Given the description of an element on the screen output the (x, y) to click on. 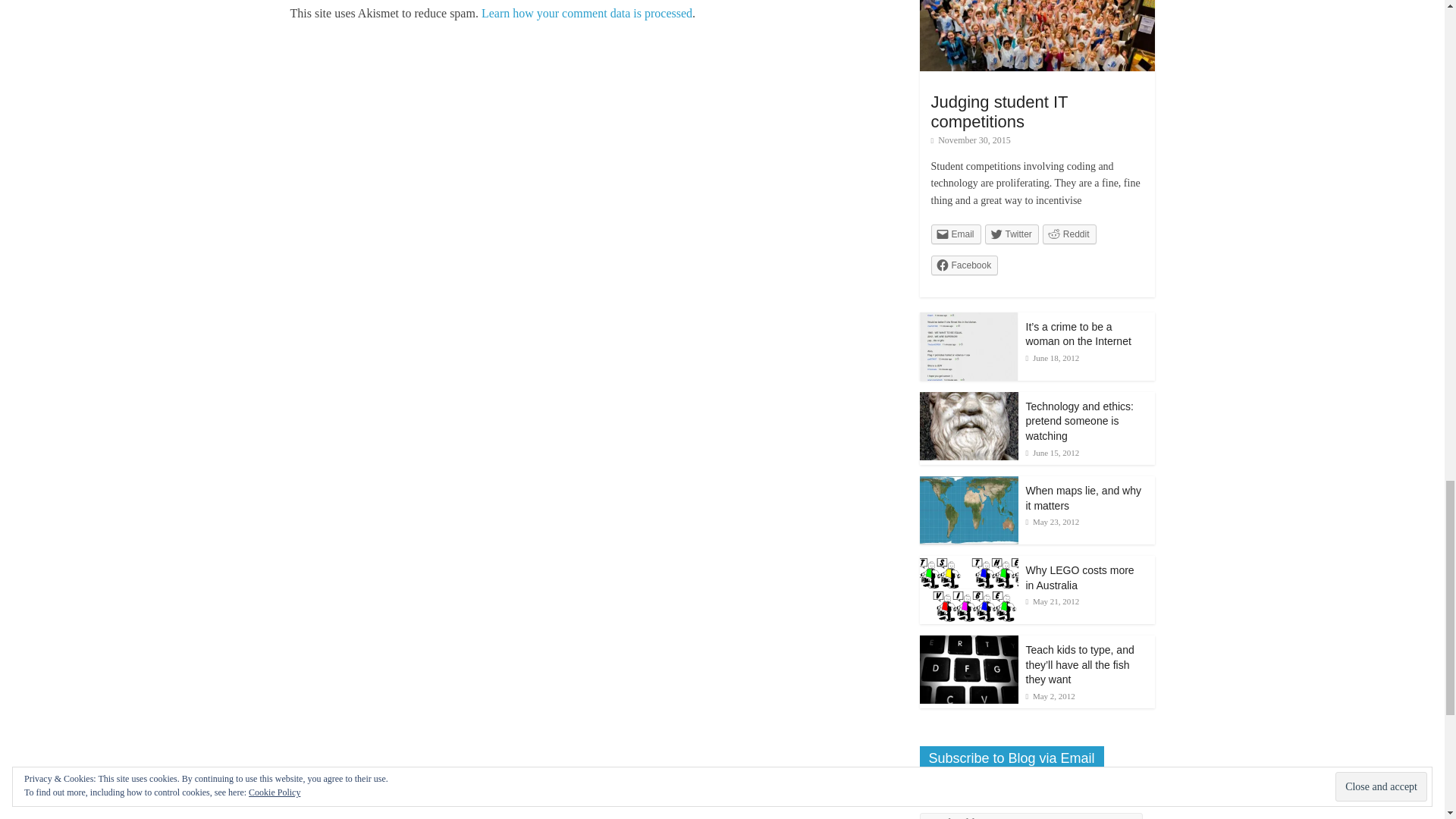
Learn how your comment data is processed (587, 12)
Twitter (1012, 234)
November 30, 2015 (970, 140)
Judging student IT competitions (999, 111)
Email (956, 234)
